Given the description of an element on the screen output the (x, y) to click on. 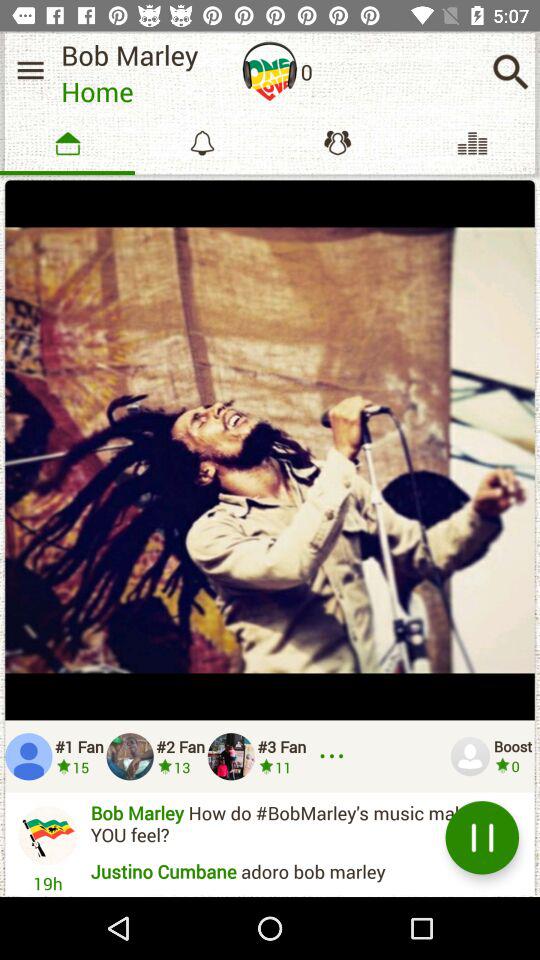
view search bar (510, 71)
